Given the description of an element on the screen output the (x, y) to click on. 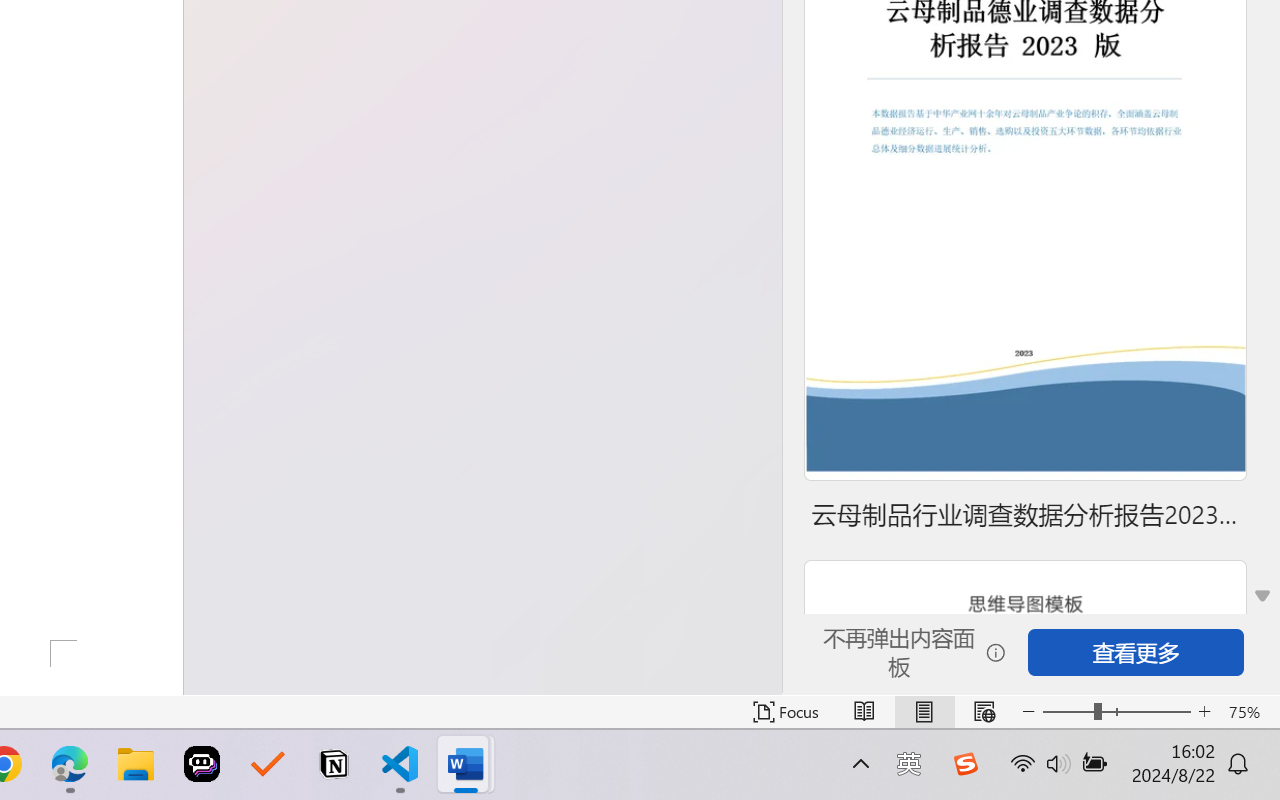
Zoom Out (1067, 712)
Print Layout (924, 712)
Zoom (1116, 712)
Read Mode (864, 712)
Web Layout (984, 712)
Focus  (786, 712)
Class: Image (965, 764)
Zoom In (1204, 712)
